Given the description of an element on the screen output the (x, y) to click on. 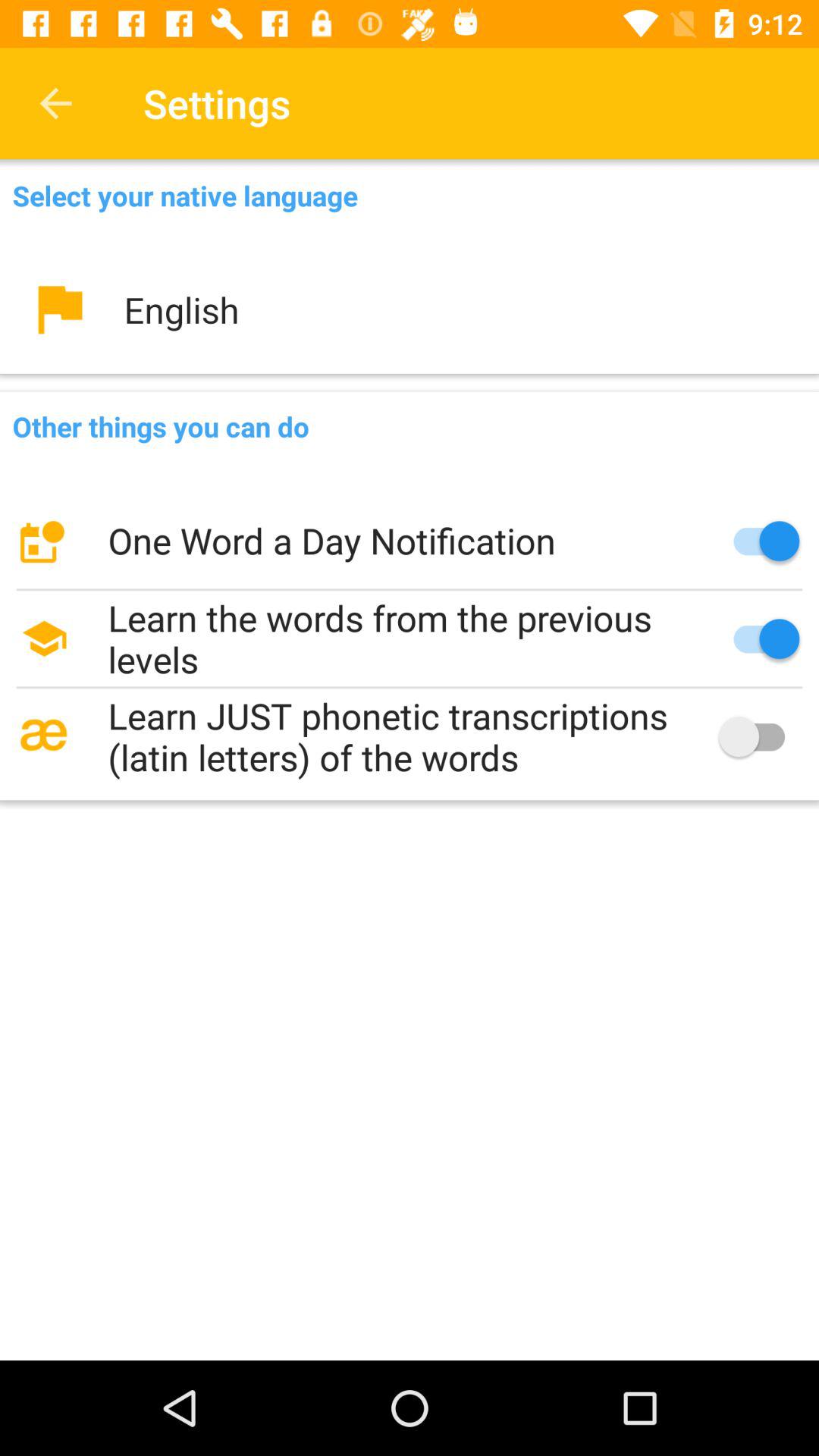
open the one word a icon (409, 540)
